Given the description of an element on the screen output the (x, y) to click on. 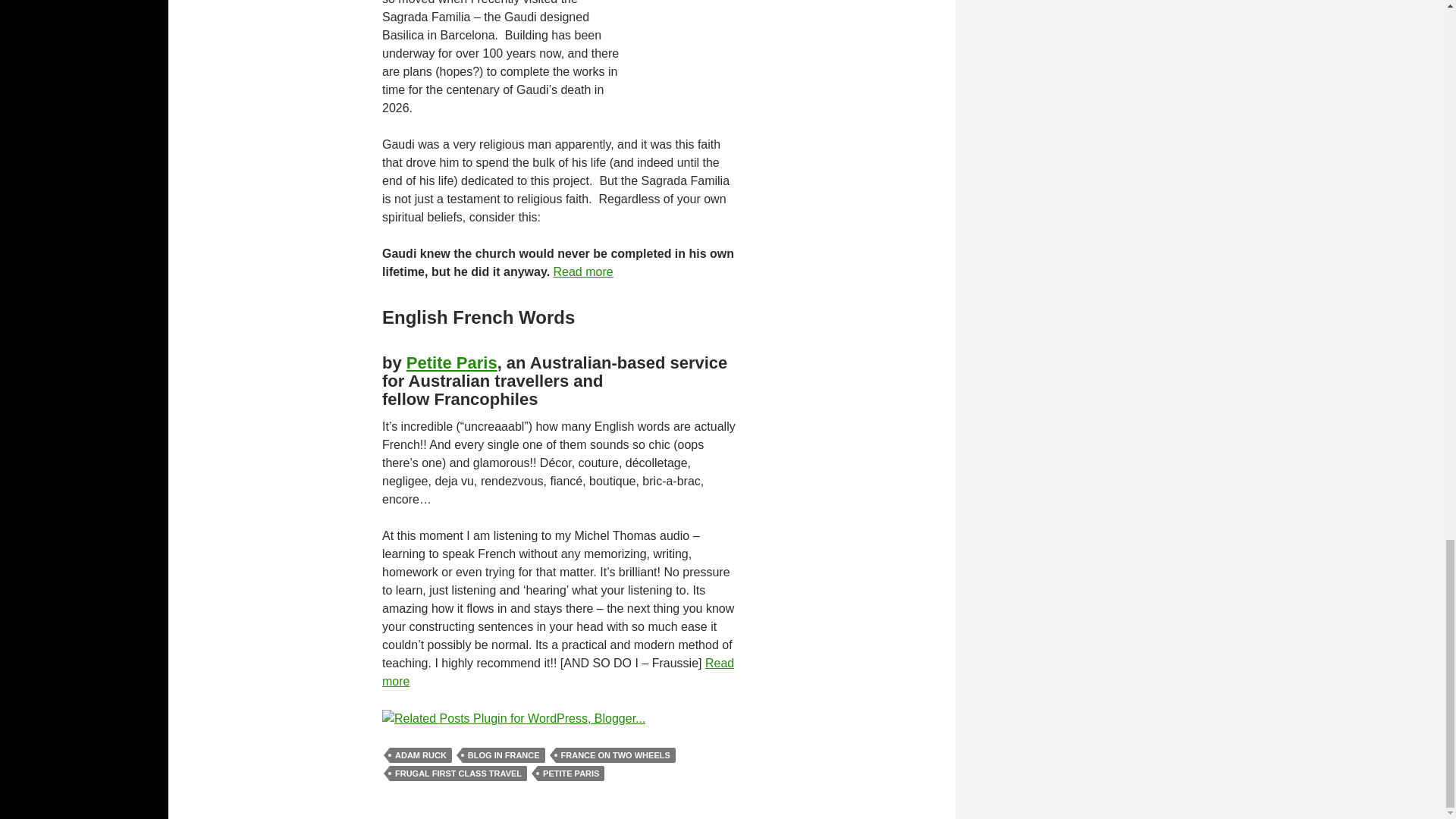
ADAM RUCK (420, 754)
Read more (557, 671)
Read more (582, 271)
Petite Paris (451, 362)
